Given the description of an element on the screen output the (x, y) to click on. 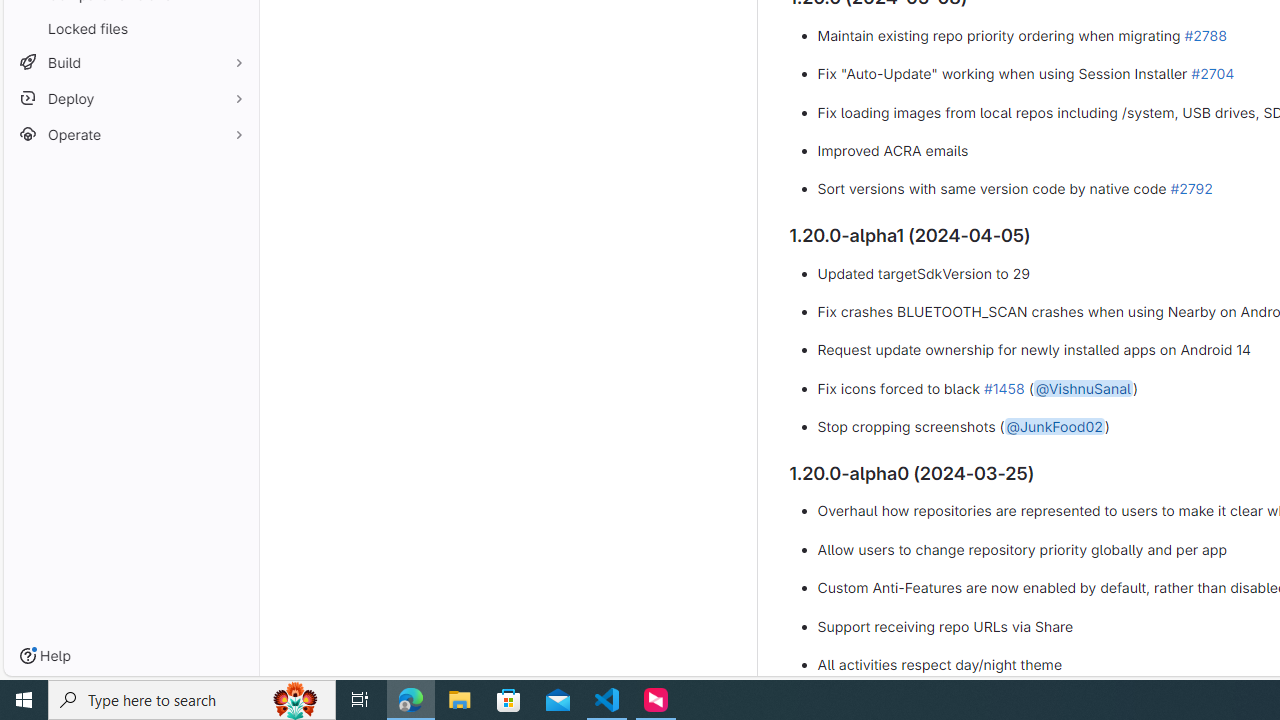
@JunkFood02 (1053, 427)
Operate (130, 134)
Deploy (130, 98)
Help (45, 655)
#2788 (1205, 34)
@VishnuSanal (1082, 387)
Build (130, 62)
#2704 (1212, 73)
#1458 (1004, 387)
Build (130, 62)
Pin Locked files (234, 28)
Locked files (130, 28)
Operate (130, 134)
#2792 (1191, 189)
Locked files (130, 28)
